Given the description of an element on the screen output the (x, y) to click on. 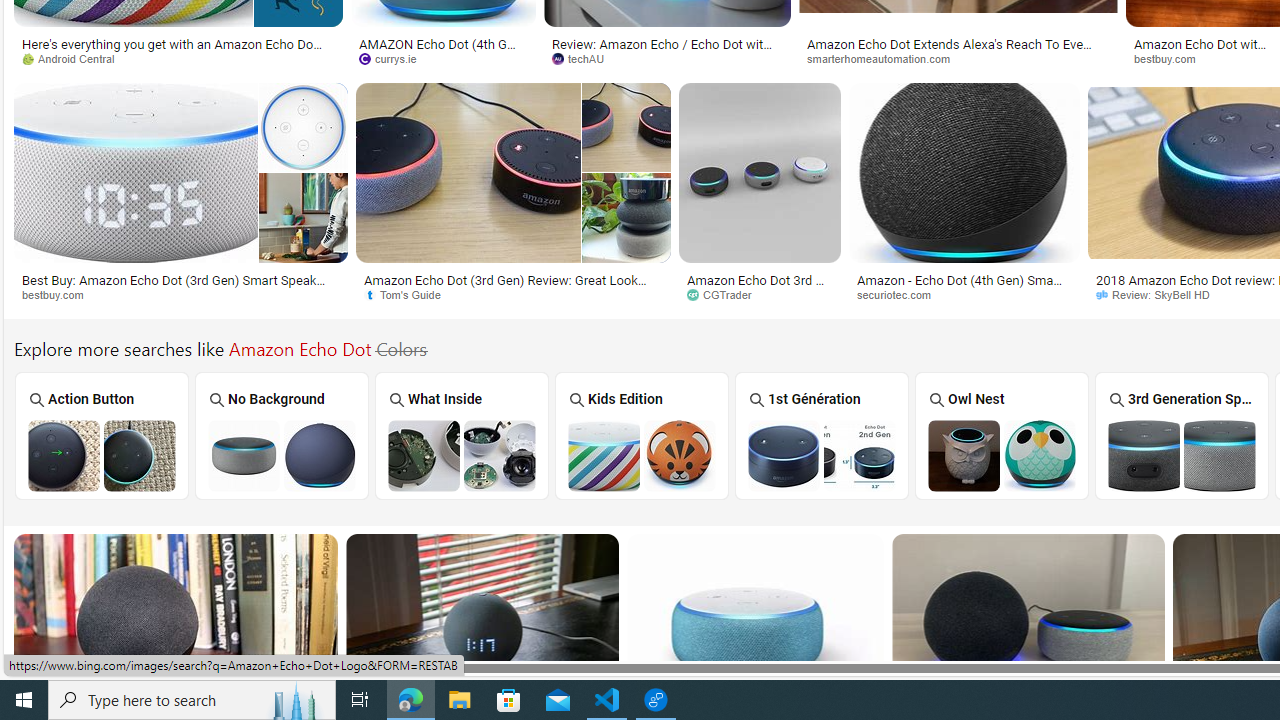
What Inside a Amazon Echo Dot What Inside (461, 435)
smarterhomeautomation.com (957, 58)
CGTrader (760, 295)
Image result for Amazon Echo Dot Colors (1028, 623)
techAU (667, 58)
Review: Amazon Echo / Echo Dot with clock (4th gen) - techAU (667, 50)
Amazon Echo Dot 1st Generation (821, 455)
